Given the description of an element on the screen output the (x, y) to click on. 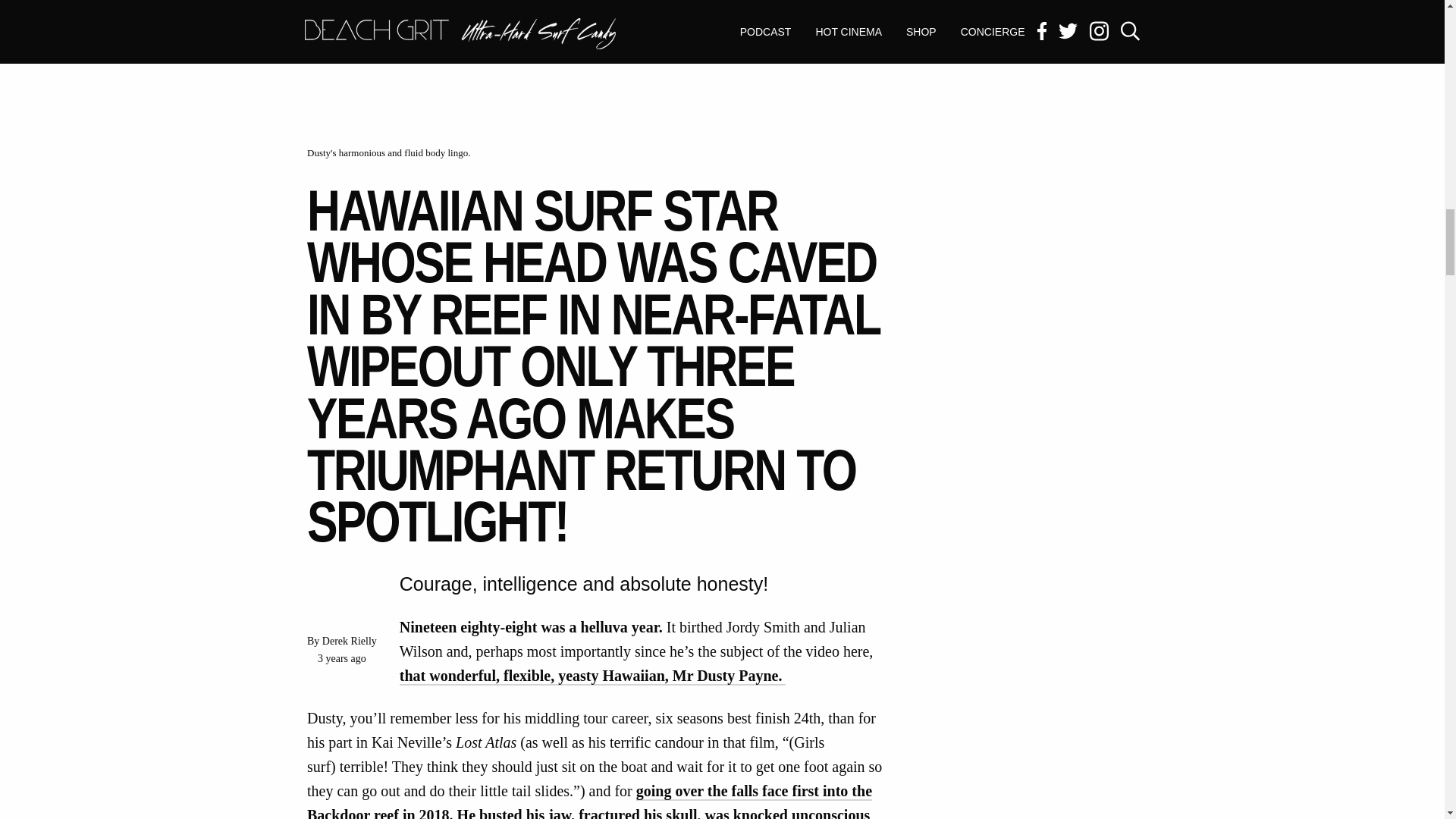
Derek Rielly (349, 641)
that wonderful, flexible, yeasty Hawaiian, Mr Dusty Payne.  (592, 676)
